Given the description of an element on the screen output the (x, y) to click on. 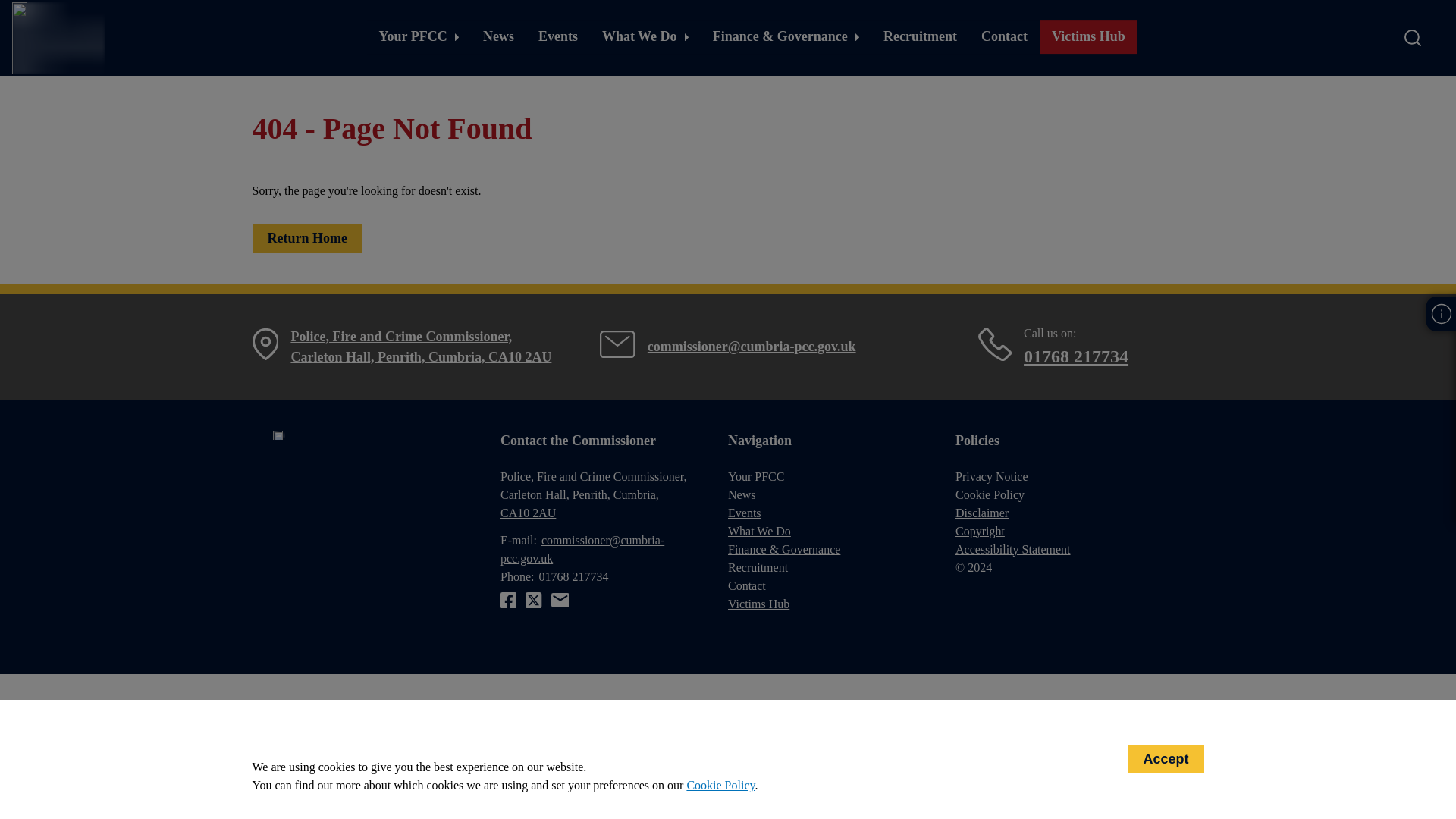
Contact (1004, 37)
Recruitment (919, 37)
Victims Hub (1088, 37)
Events (557, 37)
News (497, 37)
